Given the description of an element on the screen output the (x, y) to click on. 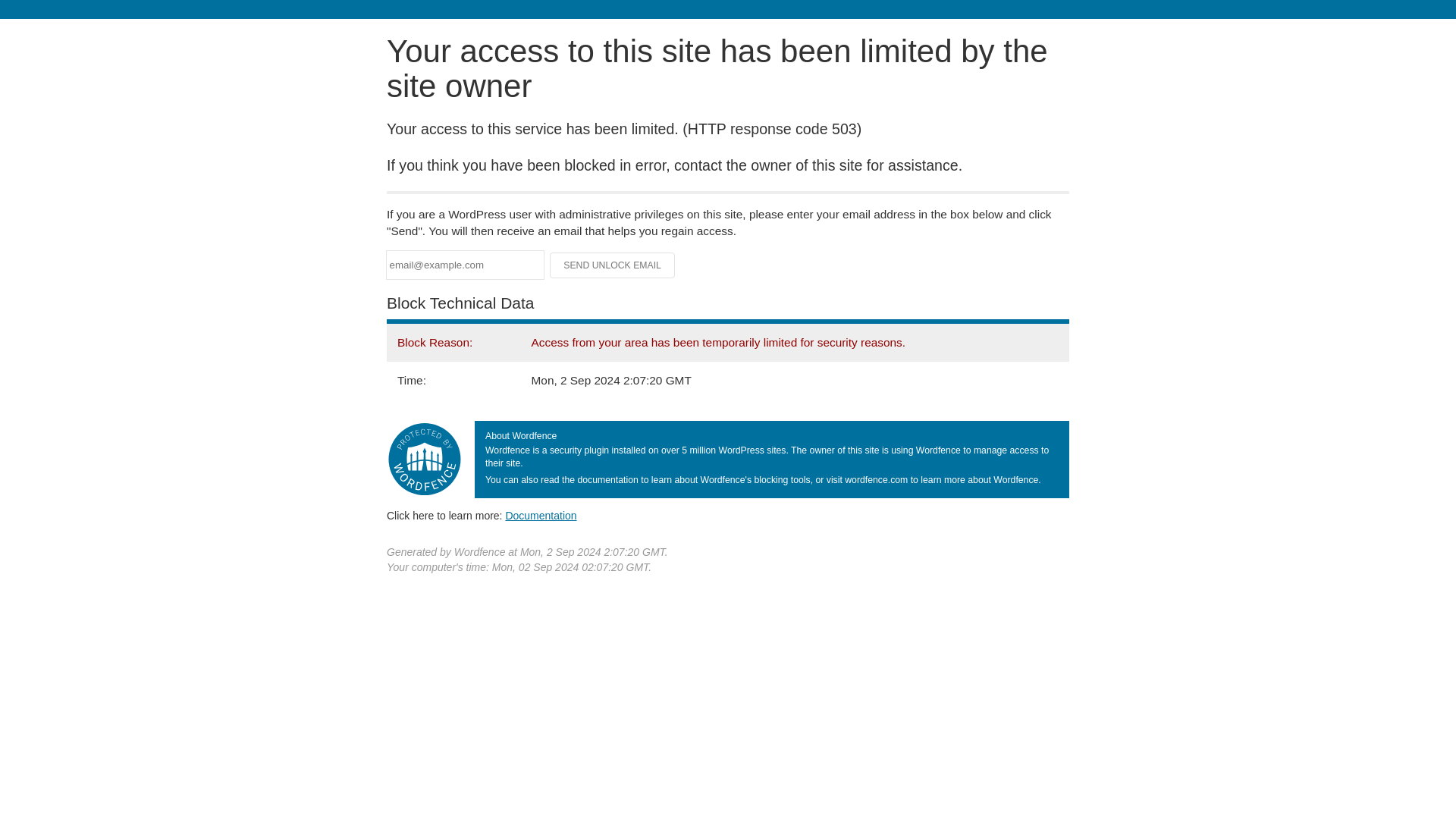
Send Unlock Email (612, 265)
Documentation (540, 515)
Send Unlock Email (612, 265)
